Given the description of an element on the screen output the (x, y) to click on. 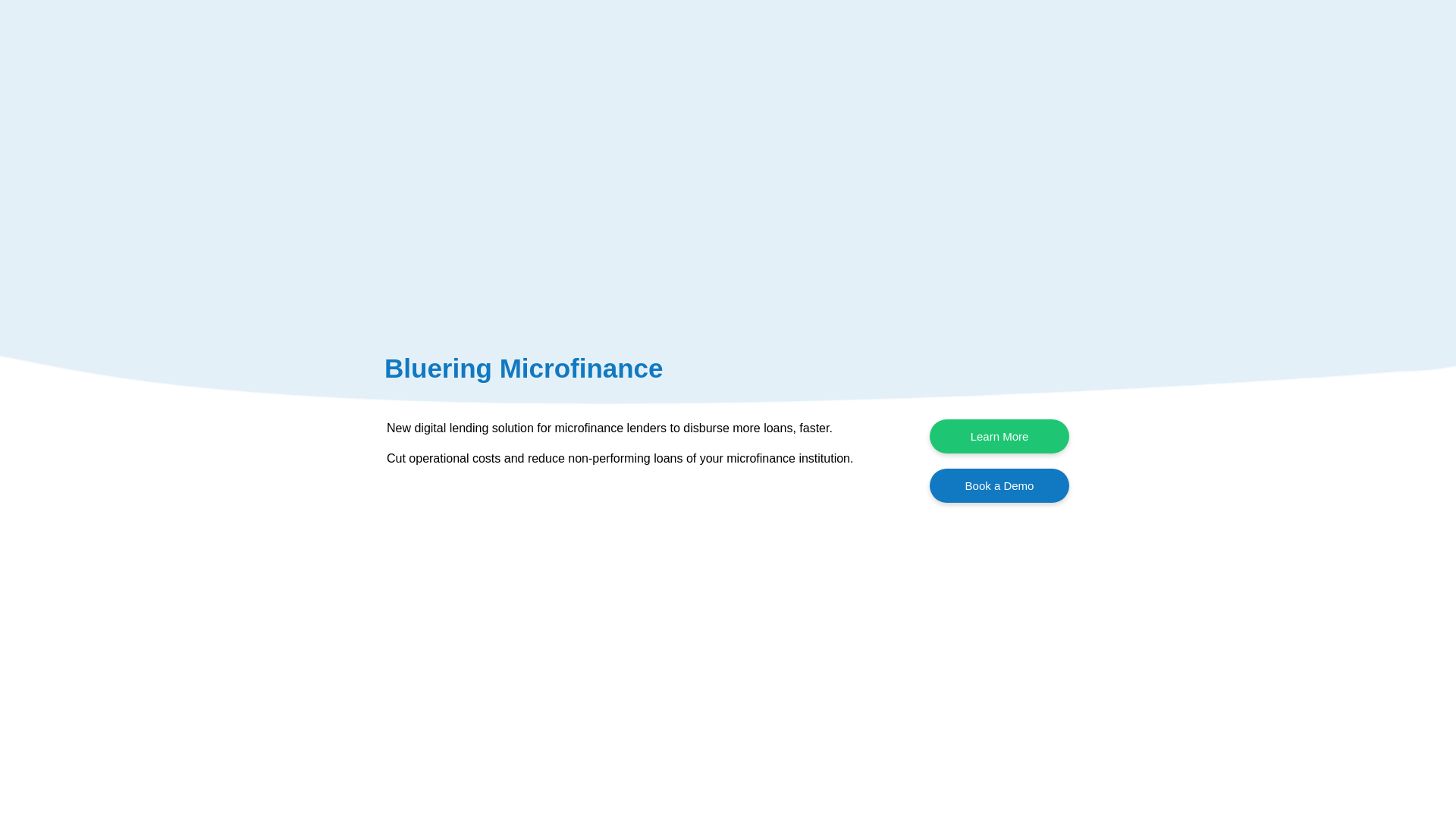
Book a Demo (999, 485)
Learn More (999, 436)
